Given the description of an element on the screen output the (x, y) to click on. 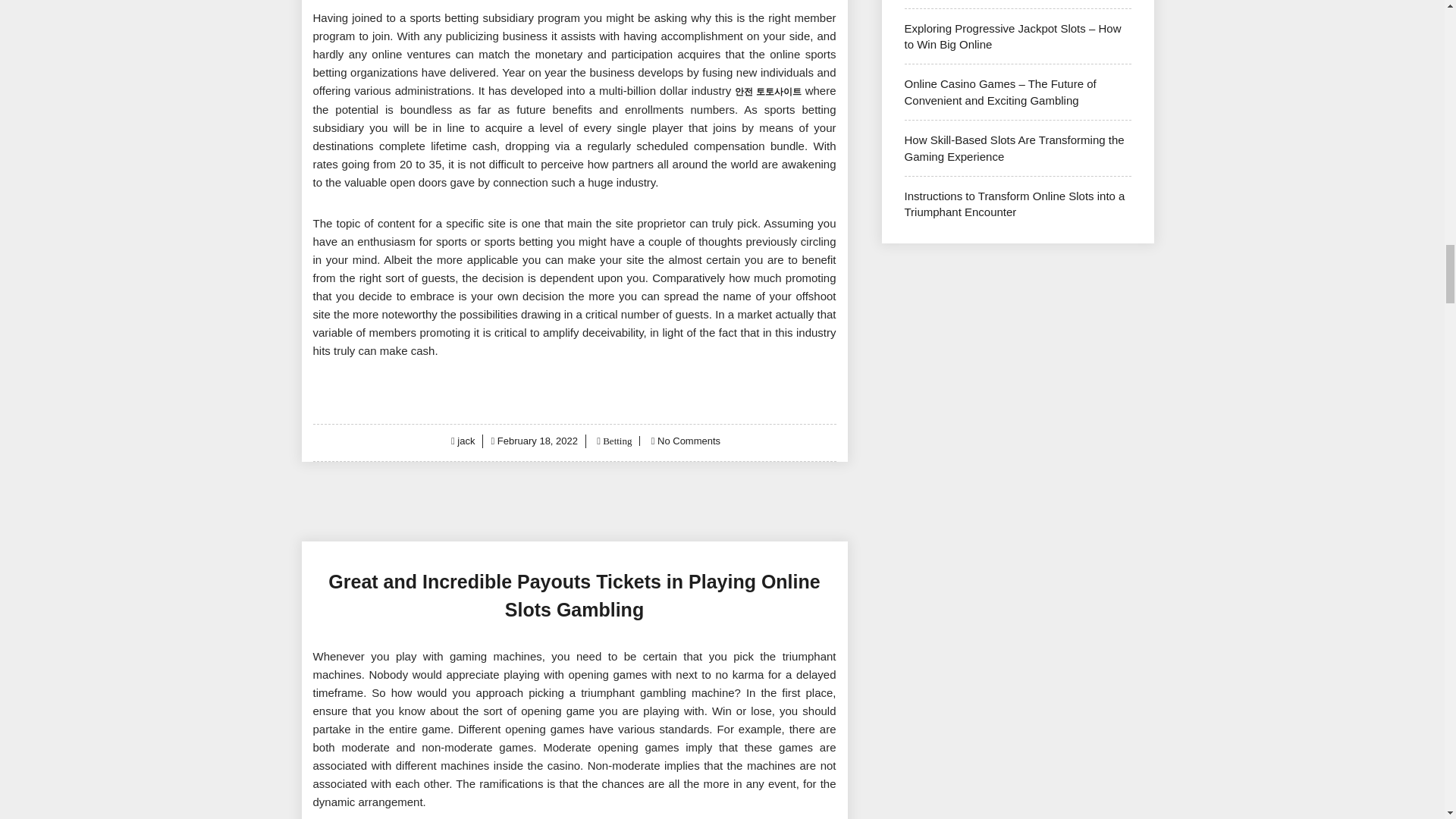
February 18, 2022 (537, 440)
No Comments (689, 440)
Betting (615, 440)
jack (465, 440)
